Given the description of an element on the screen output the (x, y) to click on. 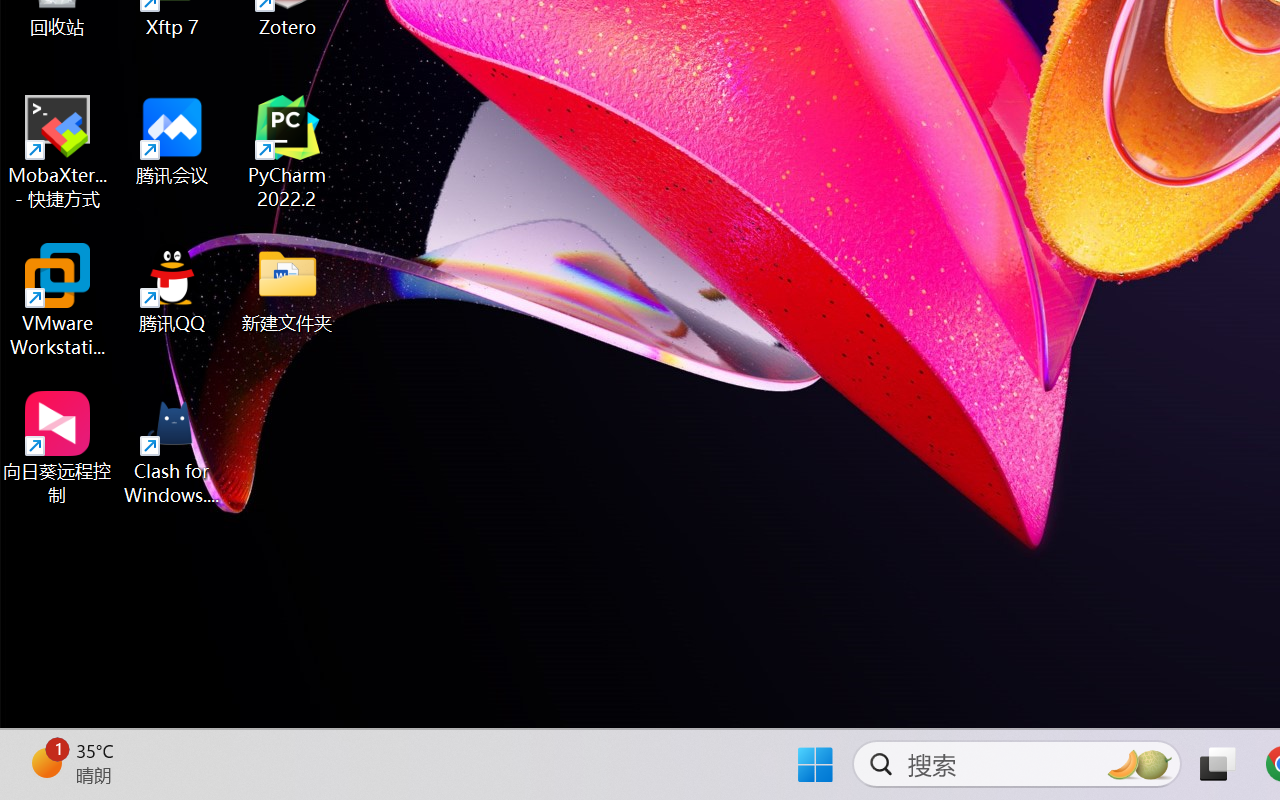
PyCharm 2022.2 (287, 152)
VMware Workstation Pro (57, 300)
